Given the description of an element on the screen output the (x, y) to click on. 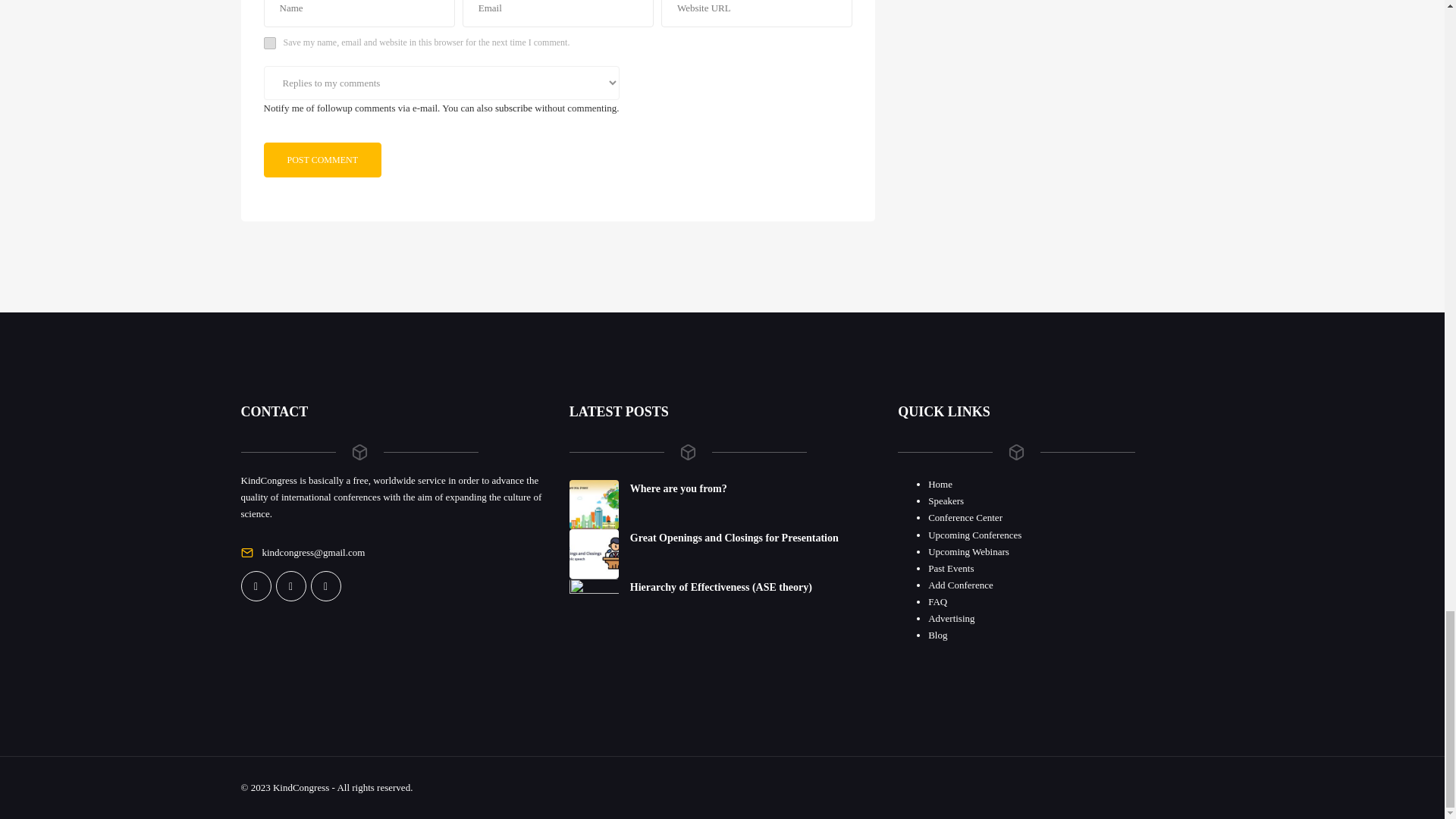
Post Comment (322, 159)
